Given the description of an element on the screen output the (x, y) to click on. 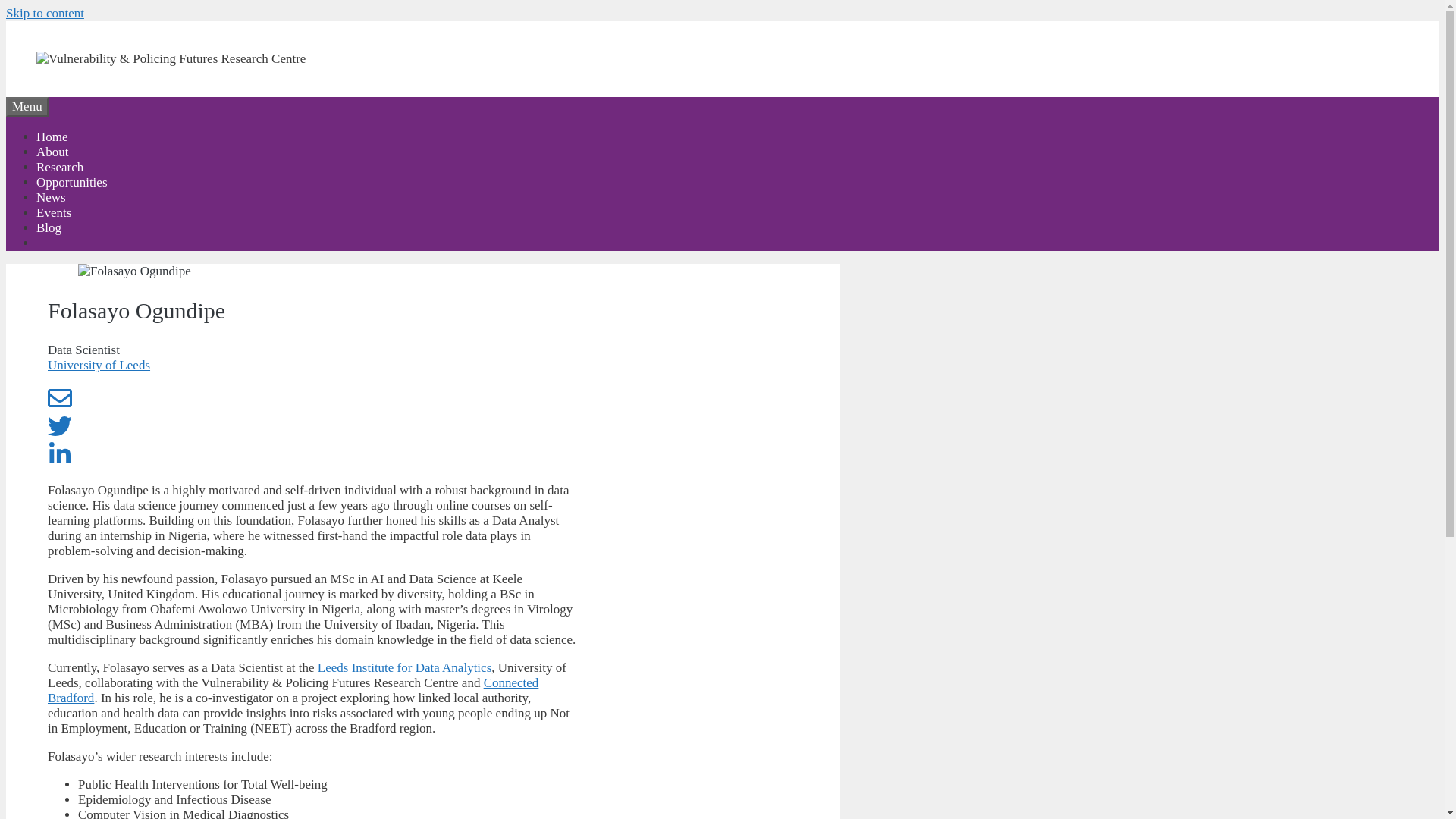
Blog (48, 227)
Opportunities (71, 182)
About (52, 151)
Skip to content (44, 12)
Events (53, 212)
Home (52, 136)
News (50, 197)
Leeds Institute for Data Analytics (404, 667)
University of Leeds (98, 364)
Connected Bradford (293, 690)
Menu (26, 107)
Skip to content (44, 12)
Research (59, 166)
